Given the description of an element on the screen output the (x, y) to click on. 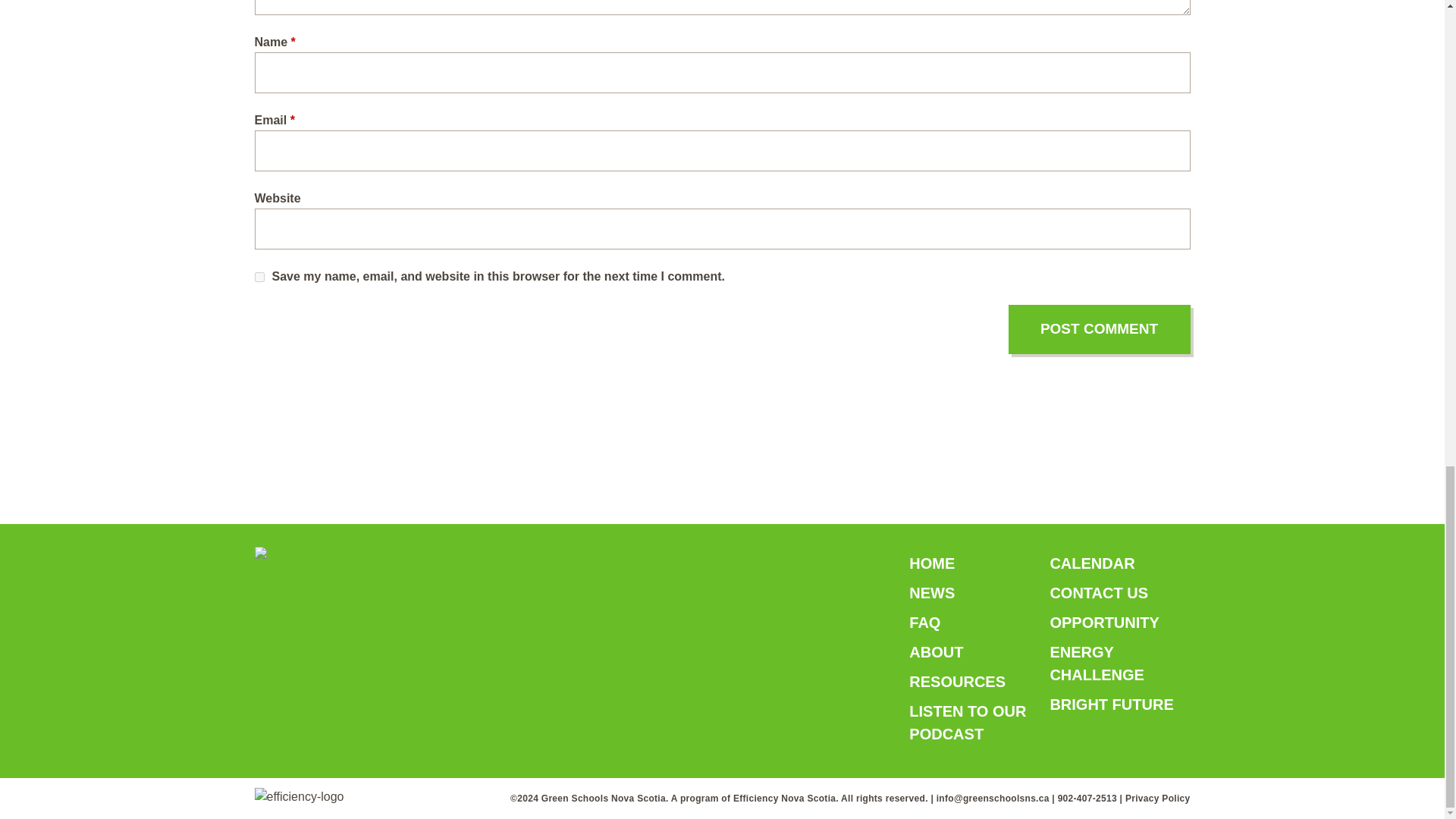
ABOUT (935, 651)
RESOURCES (957, 681)
yes (259, 276)
Post Comment (1100, 328)
CALENDAR (1091, 563)
CONTACT US (1098, 591)
Post Comment (1100, 328)
OPPORTUNITY (1103, 622)
FAQ (924, 622)
HOME (931, 563)
LISTEN TO OUR PODCAST (967, 721)
NEWS (931, 591)
